Given the description of an element on the screen output the (x, y) to click on. 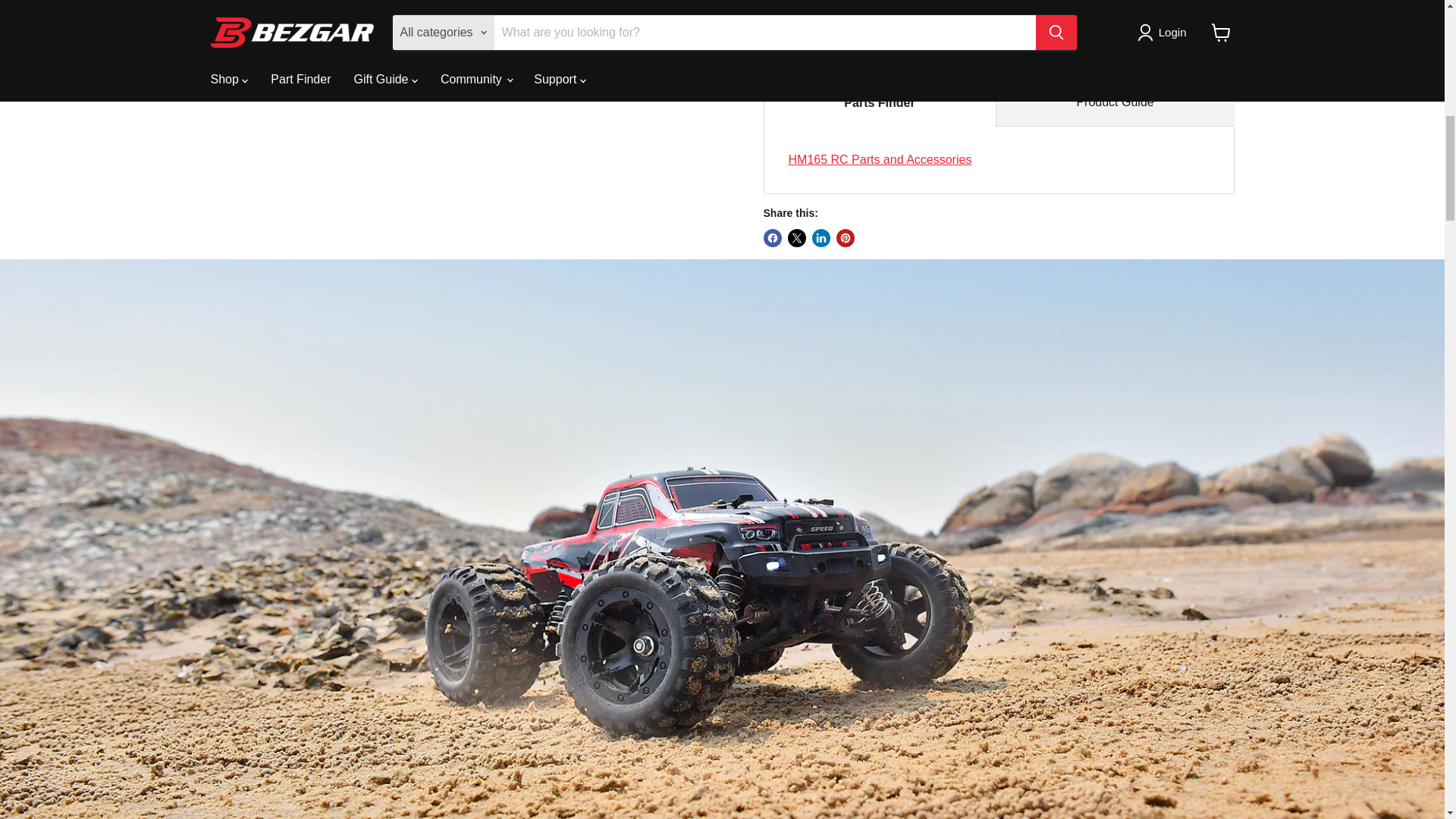
HM165 Spare Parts and Accessories (880, 159)
